Given the description of an element on the screen output the (x, y) to click on. 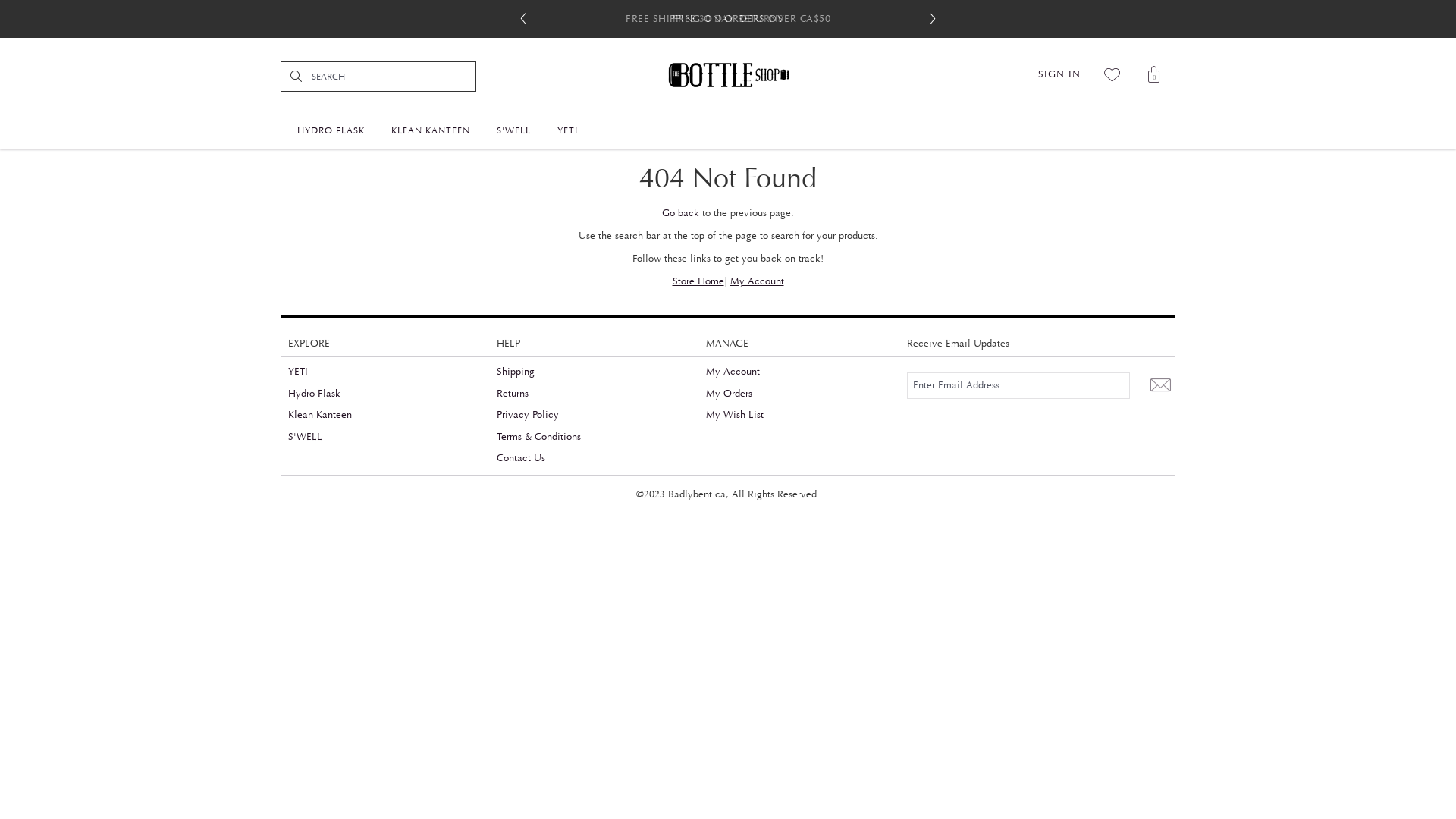
Privacy Policy Element type: text (527, 414)
S'WELL Element type: text (305, 436)
My Account Element type: text (756, 281)
YETI Element type: text (297, 371)
Klean Kanteen Element type: text (319, 414)
My Wish List Element type: text (734, 414)
KLEAN KANTEEN Element type: text (430, 128)
My Orders Element type: text (729, 393)
badlybent.ca Element type: hover (727, 73)
YETI Element type: text (567, 128)
Shipping Element type: text (515, 371)
S'WELL Element type: text (513, 128)
My Account Element type: text (732, 371)
Contact Us Element type: text (520, 457)
Hydro Flask Element type: text (314, 393)
0 Element type: text (1154, 74)
Store Home Element type: text (697, 281)
Terms & Conditions Element type: text (538, 436)
Wish List Element type: hover (1112, 74)
HYDRO FLASK Element type: text (330, 128)
Returns Element type: text (512, 393)
Go back Element type: text (680, 213)
SIGN IN Element type: text (1059, 74)
